Given the description of an element on the screen output the (x, y) to click on. 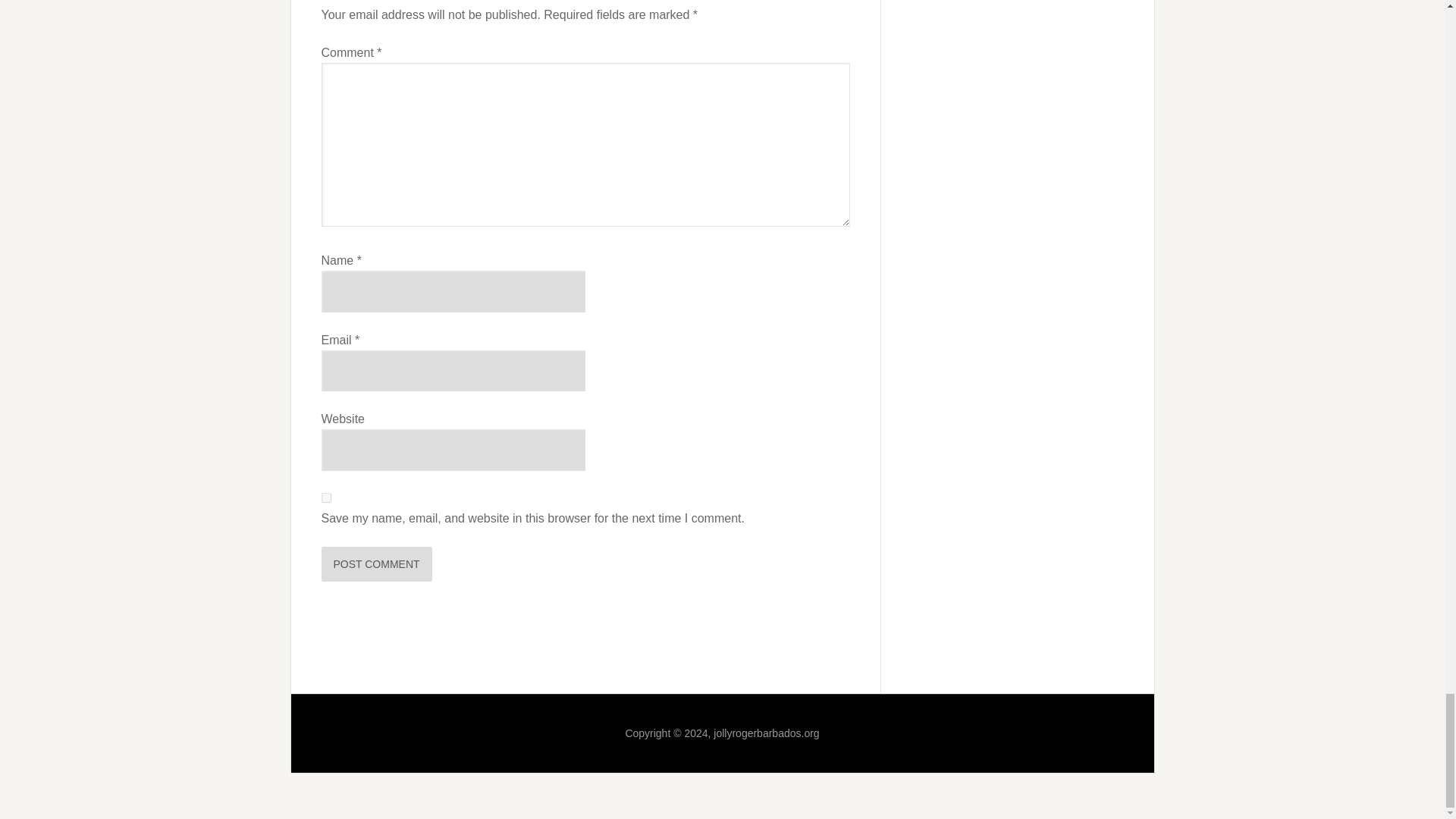
Post Comment (376, 564)
yes (326, 497)
Post Comment (376, 564)
